Given the description of an element on the screen output the (x, y) to click on. 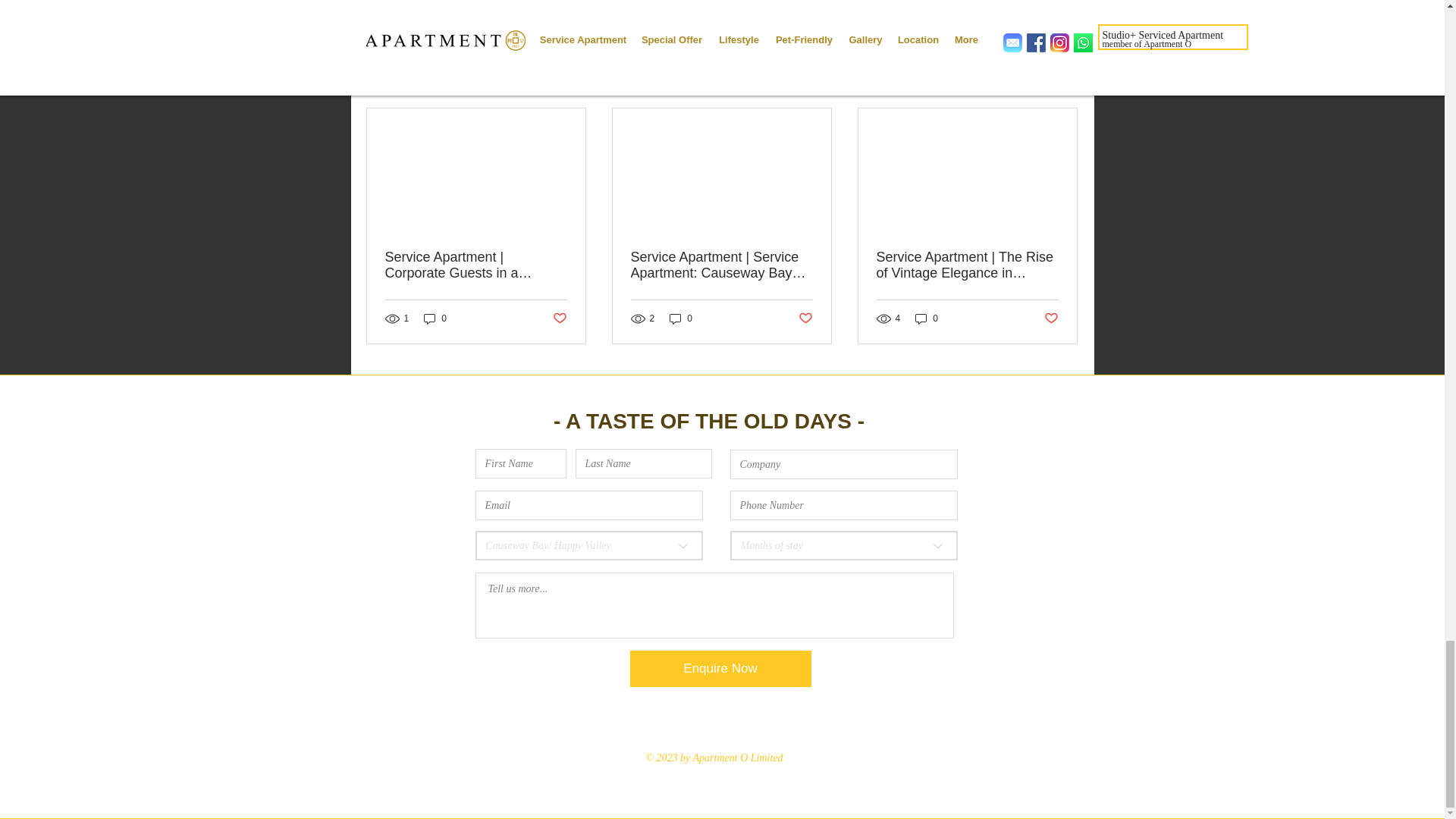
Post not marked as liked (995, 3)
0 (681, 318)
Post not marked as liked (804, 318)
0 (435, 318)
Post not marked as liked (558, 318)
See All (1061, 81)
